Given the description of an element on the screen output the (x, y) to click on. 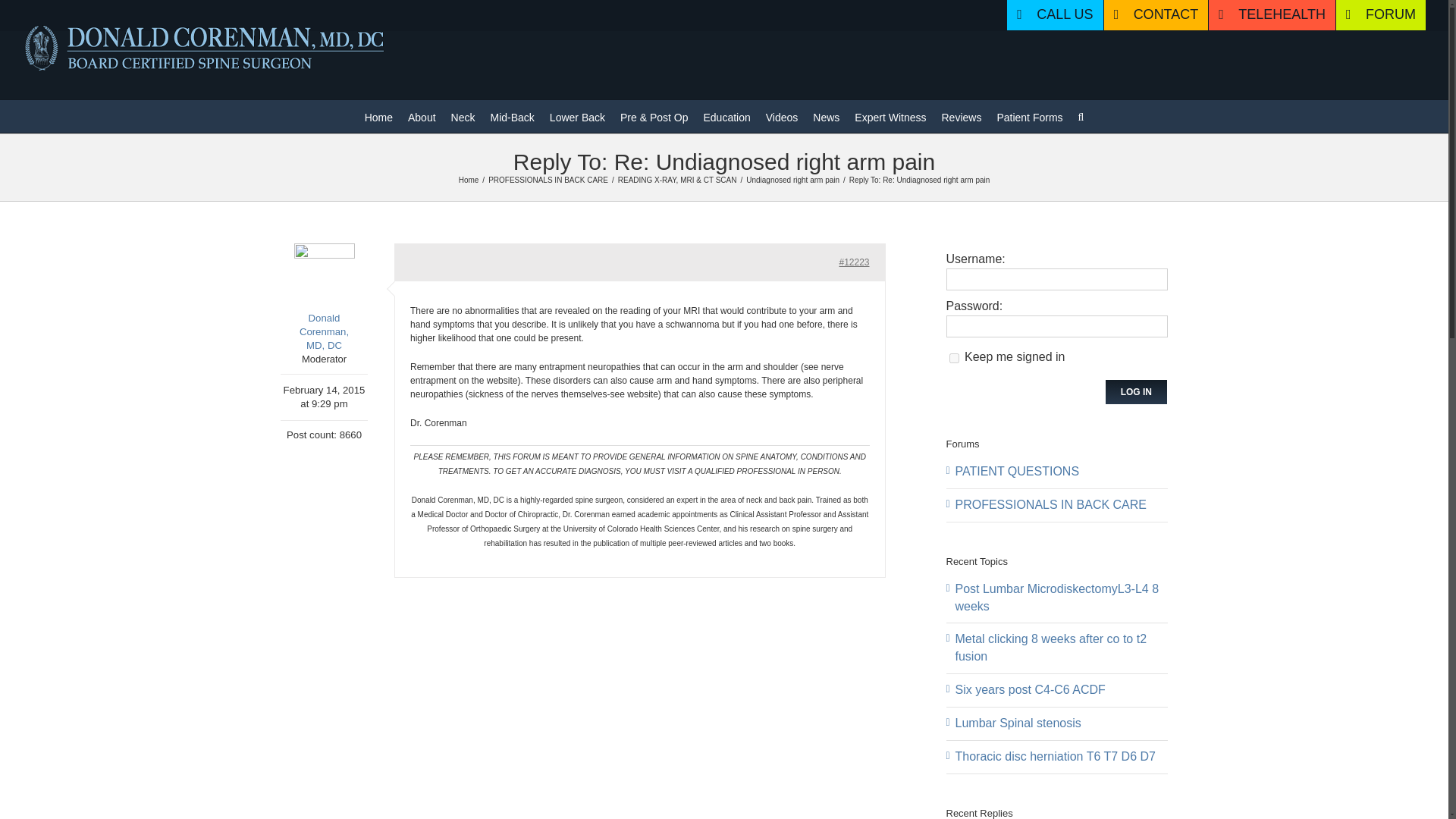
Patient Forms (1028, 115)
Lower Back (577, 115)
CONTACT (1155, 15)
CALL US (1054, 15)
Education (727, 115)
TELEHEALTH (1271, 15)
Expert Witness (890, 115)
Mid-Back (511, 115)
FORUM (1380, 15)
Reviews (961, 115)
Videos (781, 115)
